Given the description of an element on the screen output the (x, y) to click on. 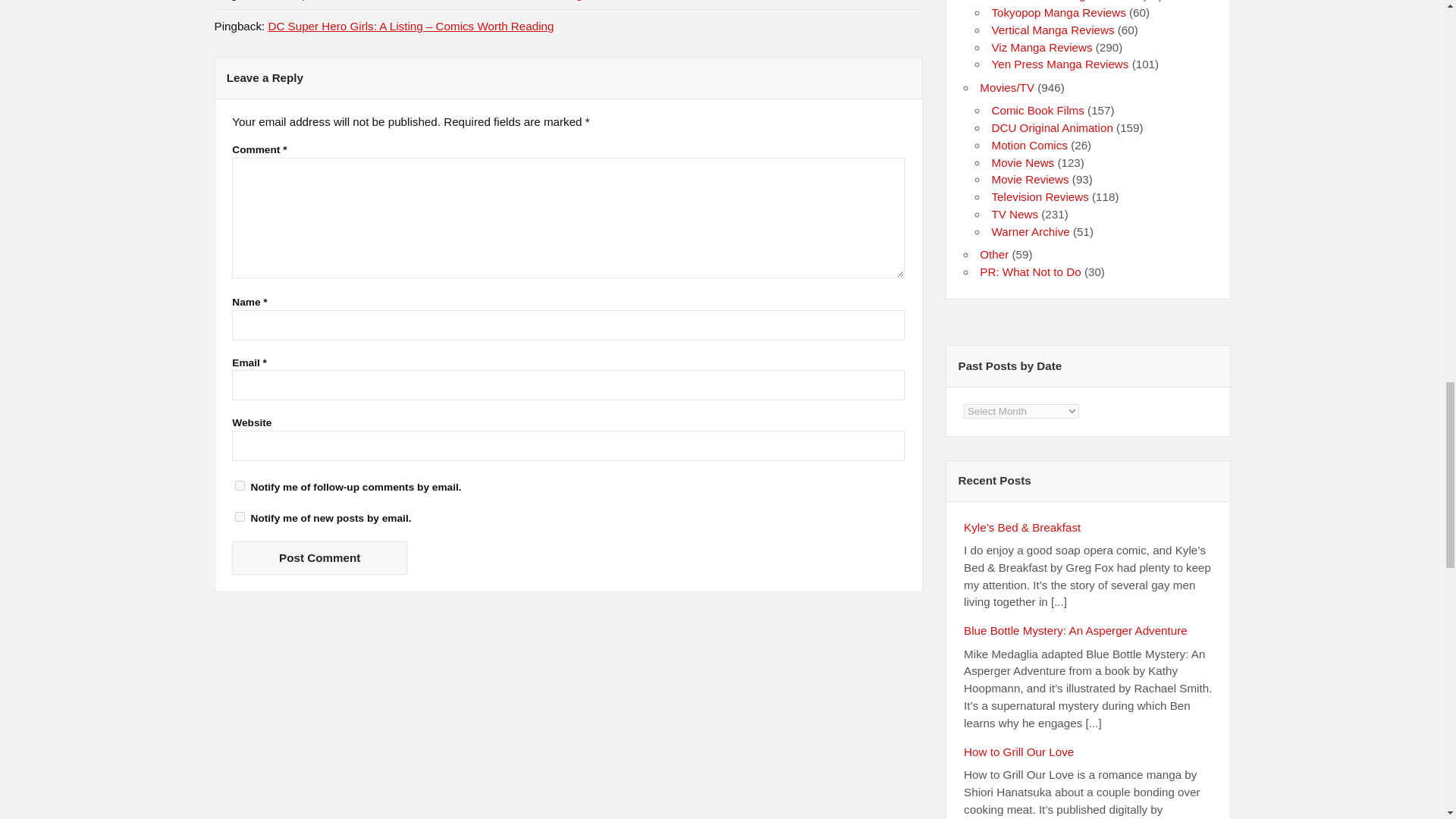
subscribe (239, 485)
subscribe (239, 516)
Post Comment (319, 557)
